Given the description of an element on the screen output the (x, y) to click on. 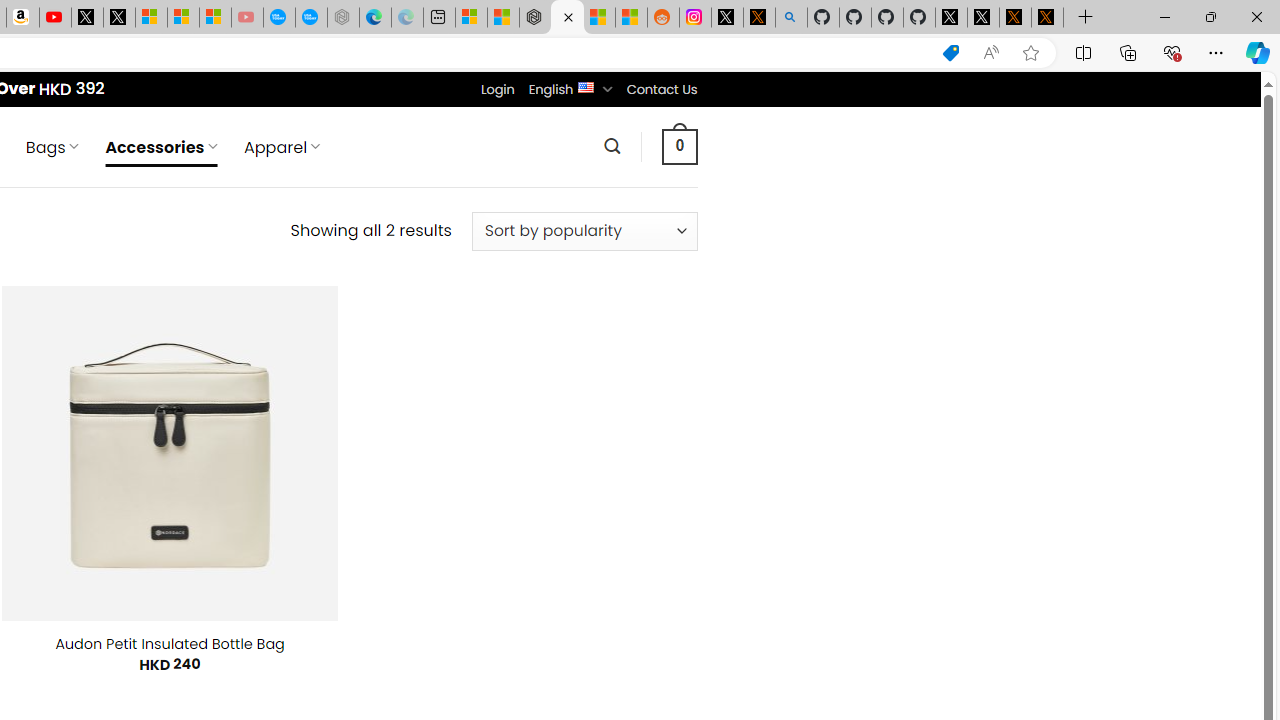
Nordace - Nordace has arrived Hong Kong - Sleeping (343, 17)
X Privacy Policy (1047, 17)
Gloom - YouTube - Sleeping (246, 17)
